Given the description of an element on the screen output the (x, y) to click on. 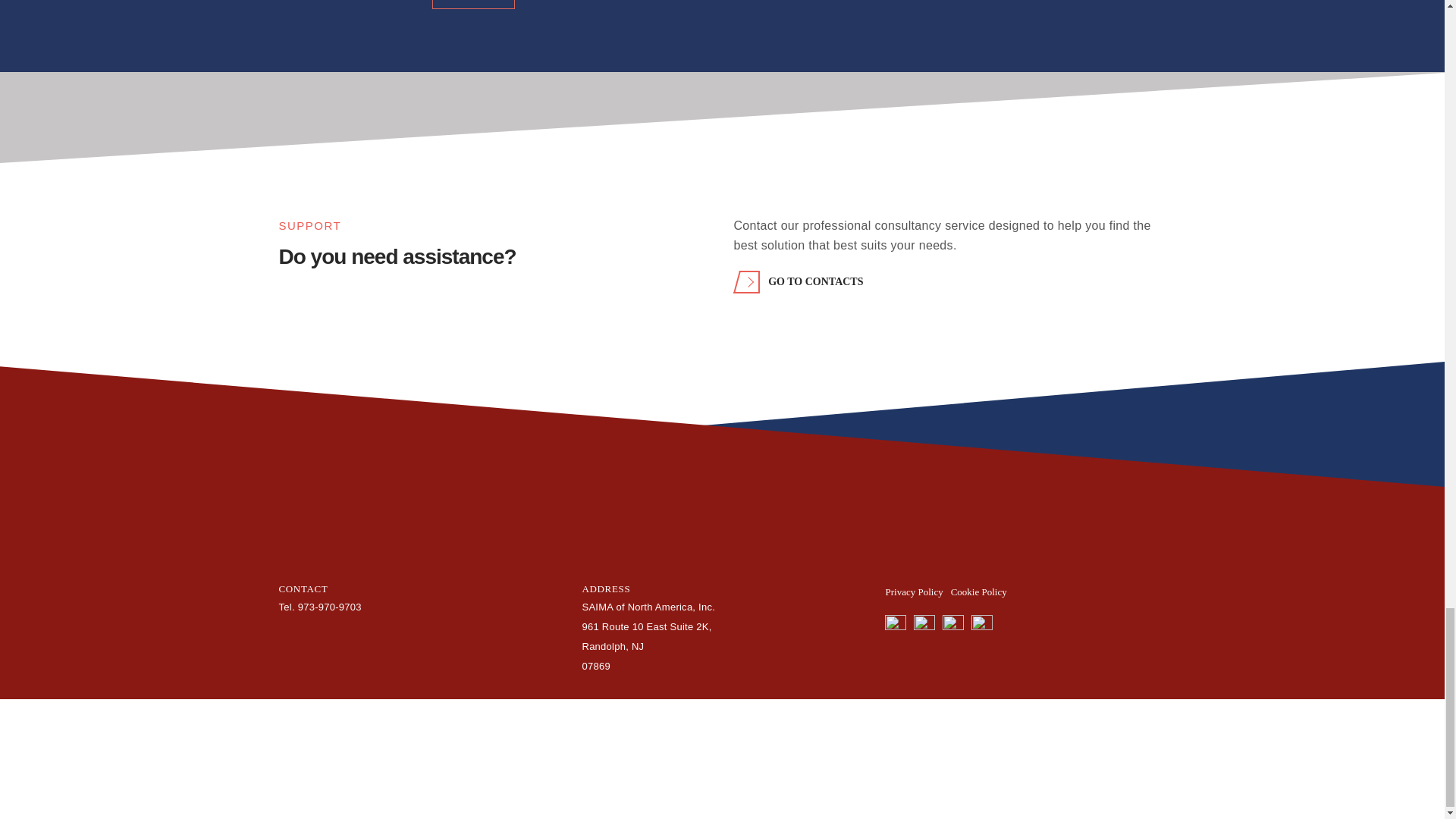
Submit (473, 4)
973-970-9703 (329, 606)
Submit (473, 4)
Cookie Policy (978, 591)
Privacy Policy (913, 591)
GO TO CONTACTS (800, 282)
